Given the description of an element on the screen output the (x, y) to click on. 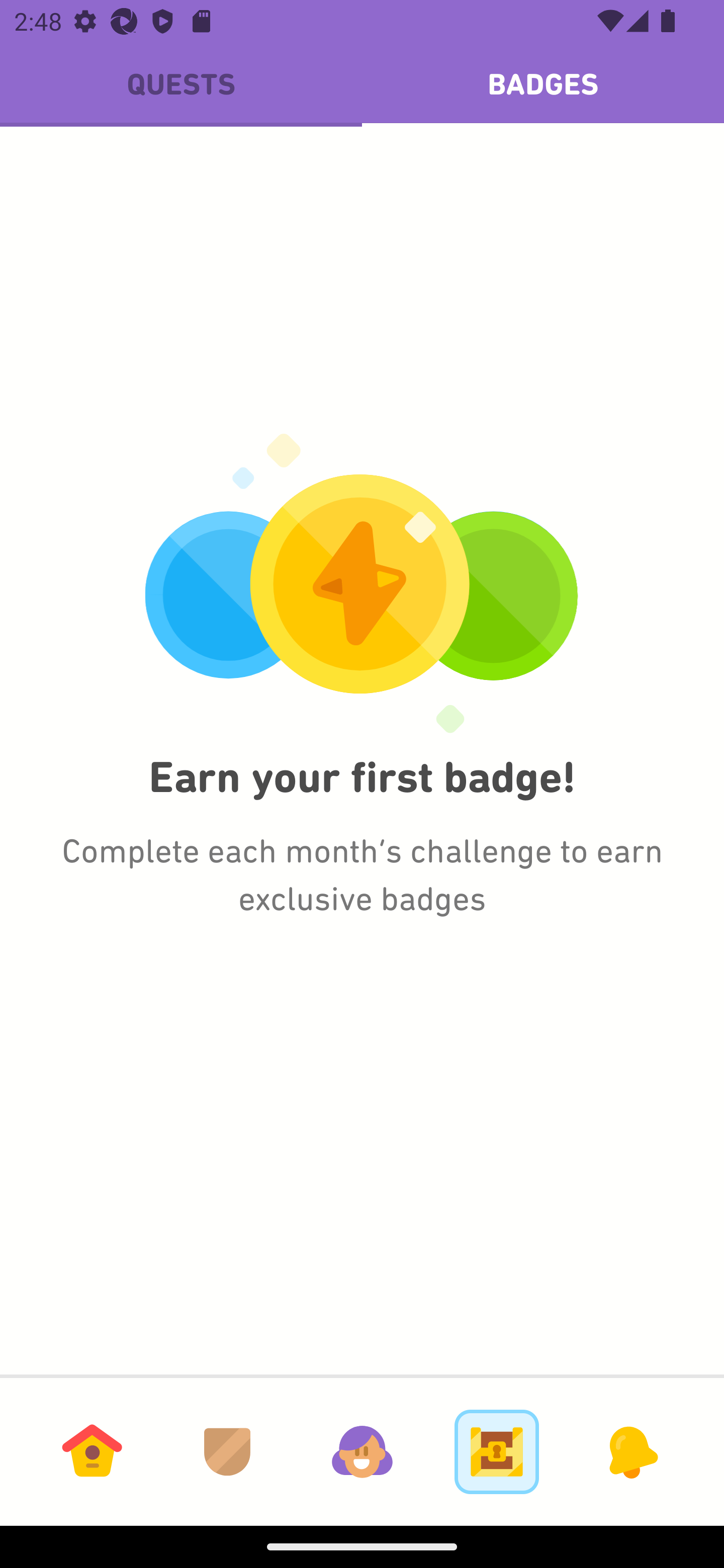
QUESTS (181, 84)
Learn Tab (91, 1451)
Leagues Tab (227, 1451)
Profile Tab (361, 1451)
Goals Tab (496, 1451)
News Tab (631, 1451)
